Given the description of an element on the screen output the (x, y) to click on. 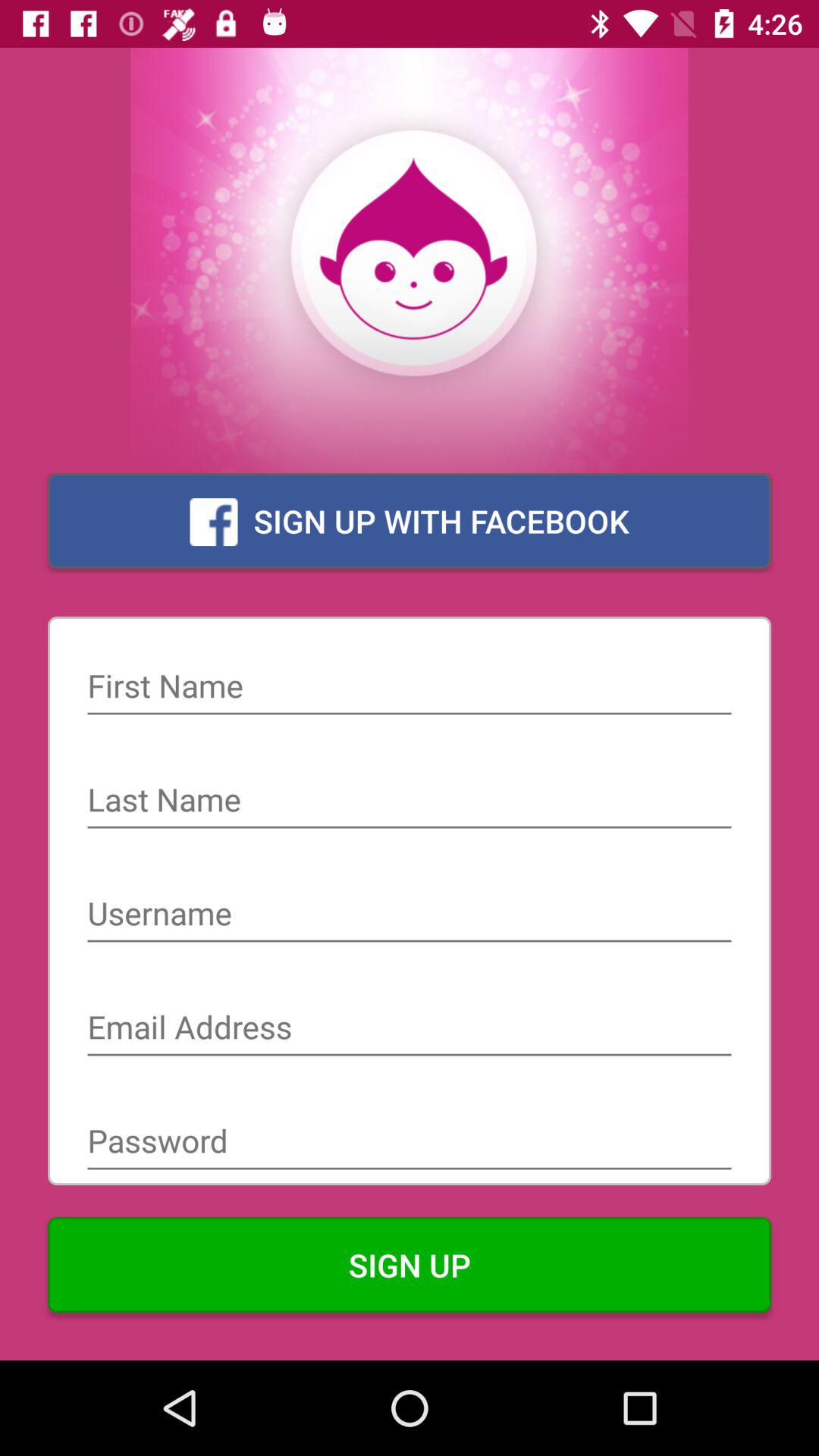
enter first name (409, 687)
